Given the description of an element on the screen output the (x, y) to click on. 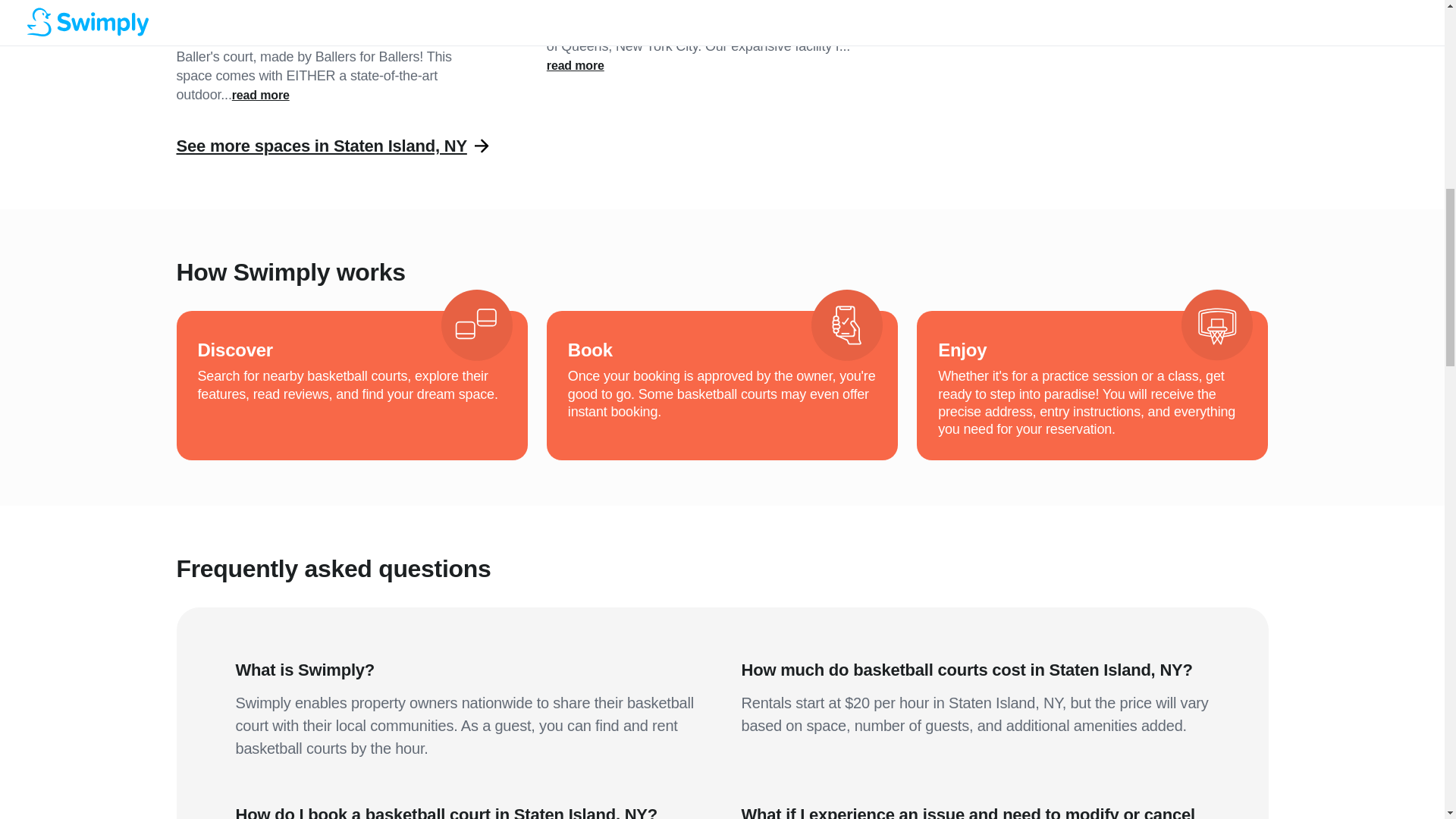
read more (575, 65)
read more (260, 95)
See more spaces in Staten Island, NY (320, 145)
